Given the description of an element on the screen output the (x, y) to click on. 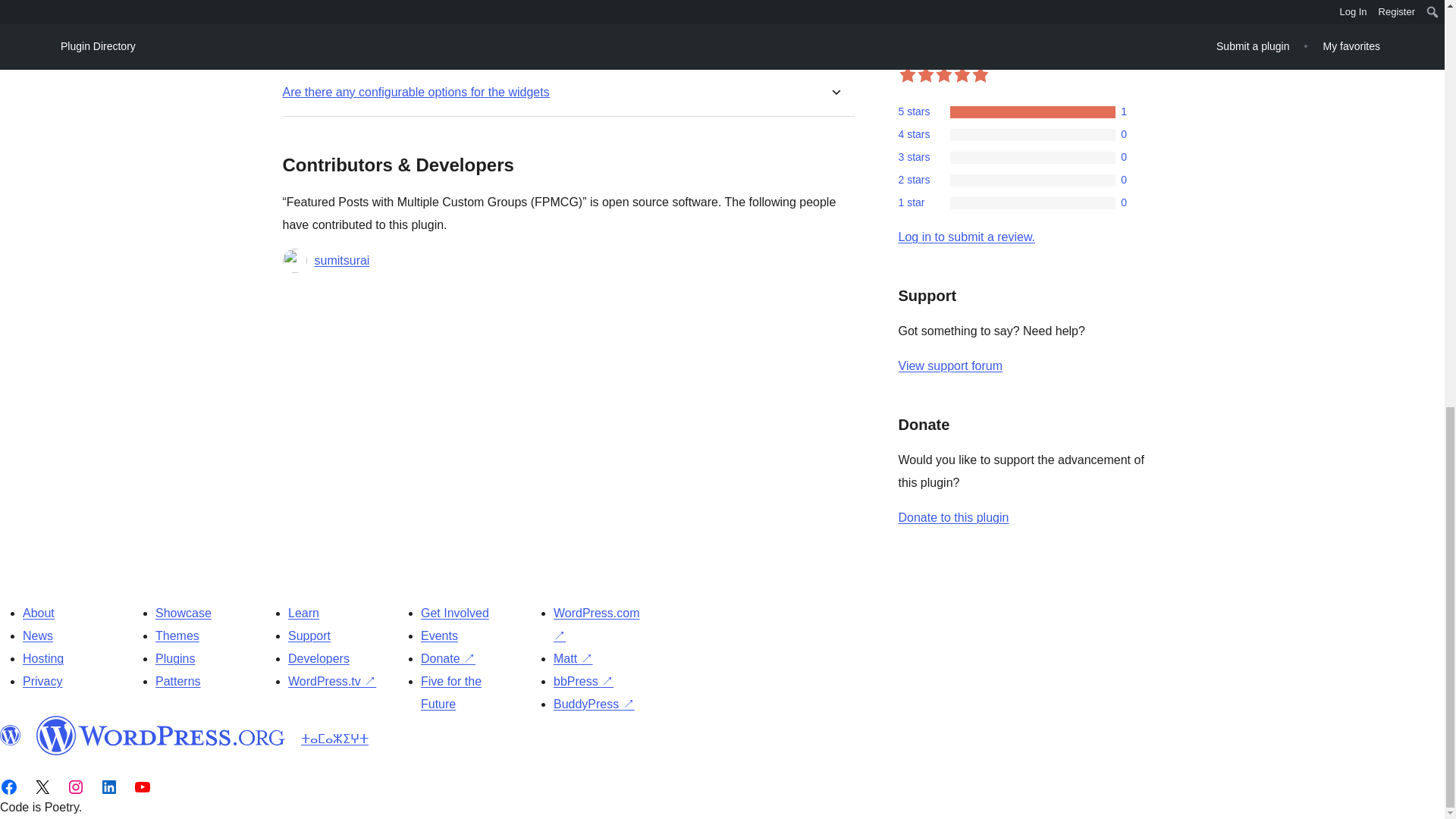
sumitsurai (341, 260)
Can I place one post under several featured post groups? (436, 2)
WordPress.org (10, 735)
WordPress.org (160, 735)
Log in to WordPress.org (966, 236)
Are there any configurable options for the widgets (415, 92)
